Given the description of an element on the screen output the (x, y) to click on. 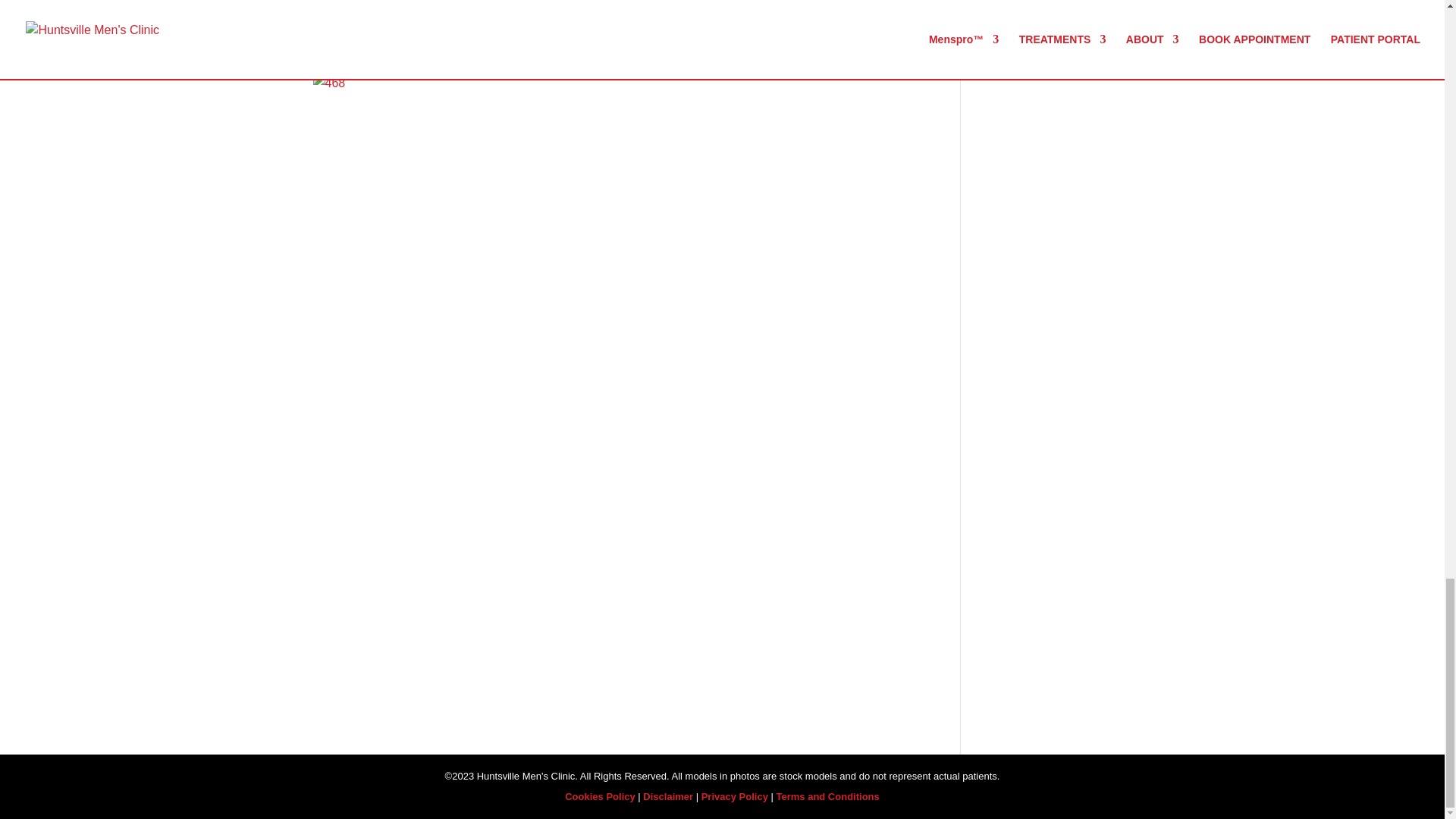
Home Page (373, 3)
